Given the description of an element on the screen output the (x, y) to click on. 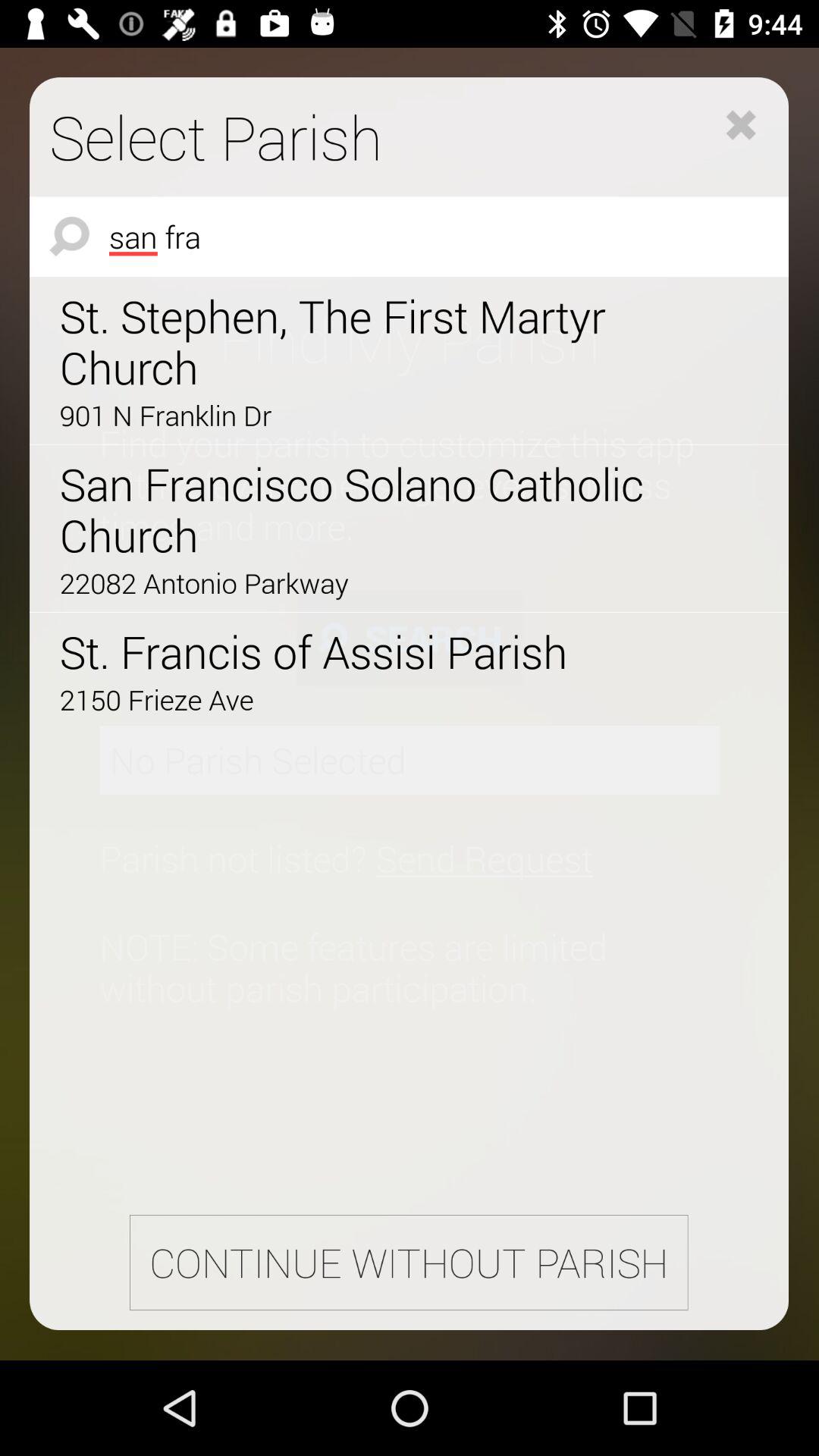
launch the icon below the 901 n franklin (366, 509)
